Given the description of an element on the screen output the (x, y) to click on. 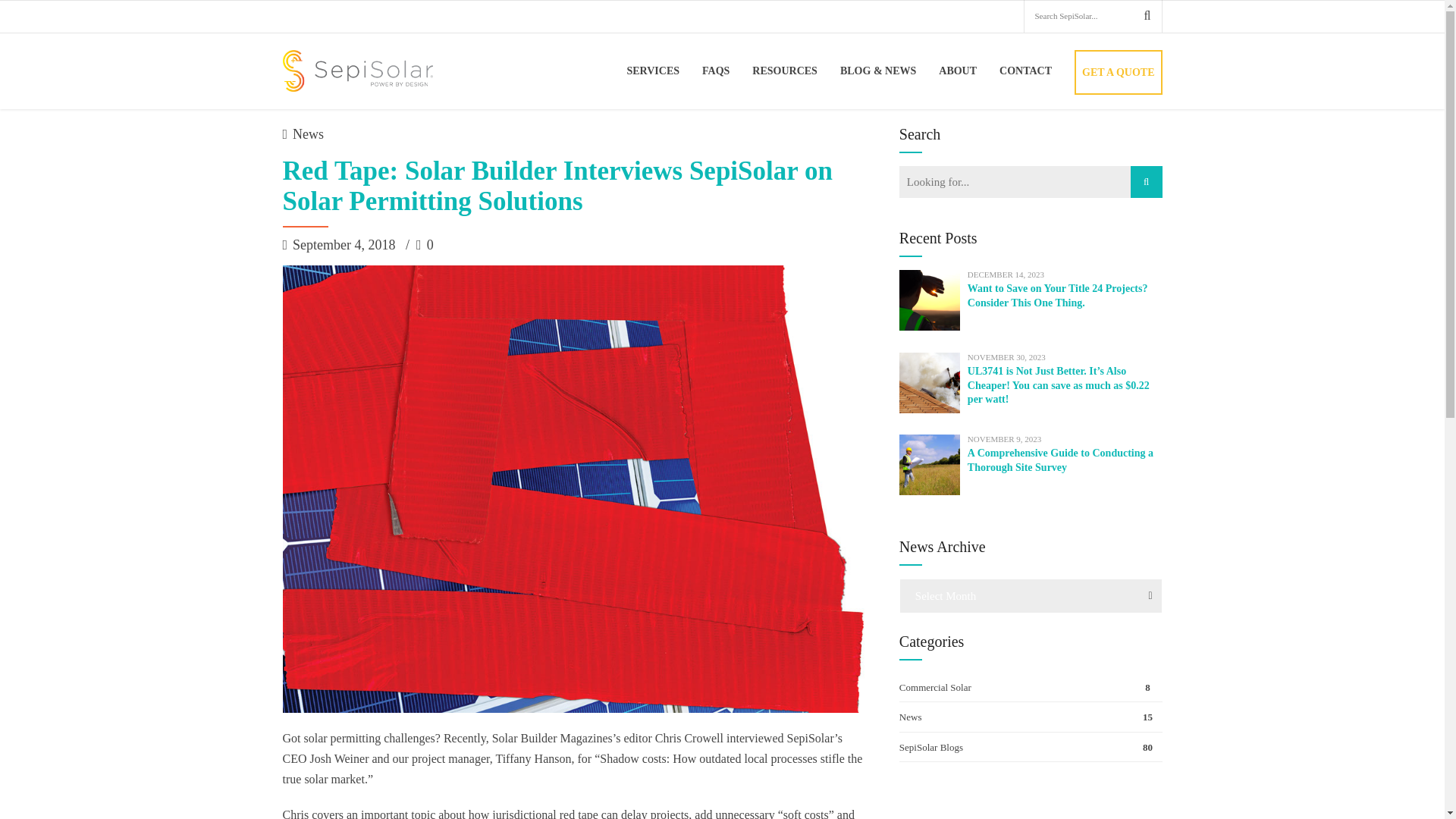
SERVICES (652, 70)
RESOURCES (784, 70)
